Given the description of an element on the screen output the (x, y) to click on. 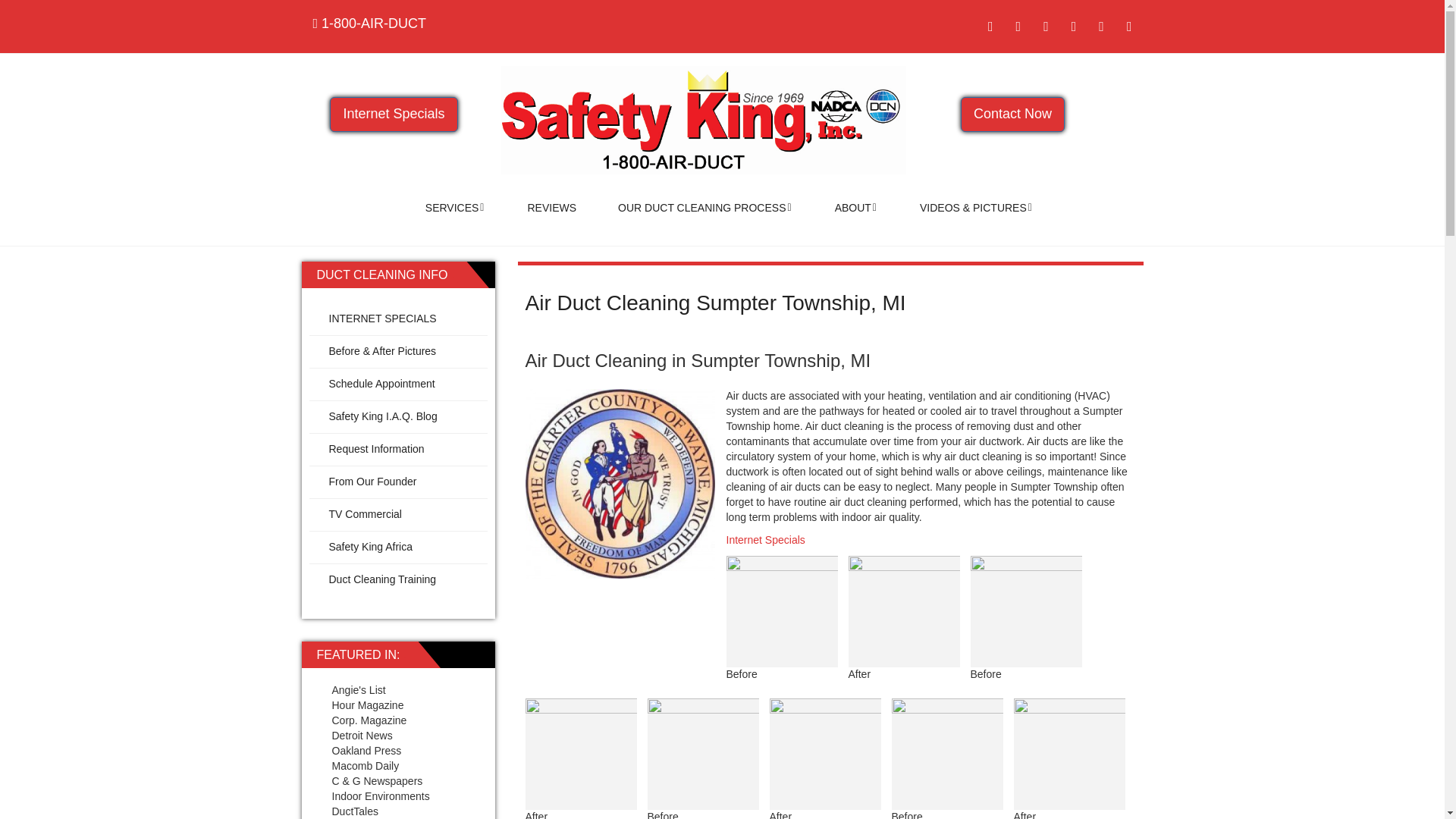
ABOUT (855, 207)
Air Duct Cleaning Sumpter Township, MI (714, 302)
Contact Now (1012, 114)
Internet Specials (765, 539)
OUR DUCT CLEANING PROCESS (705, 207)
SERVICES (455, 207)
Internet Specials (393, 114)
REVIEWS (551, 207)
